Given the description of an element on the screen output the (x, y) to click on. 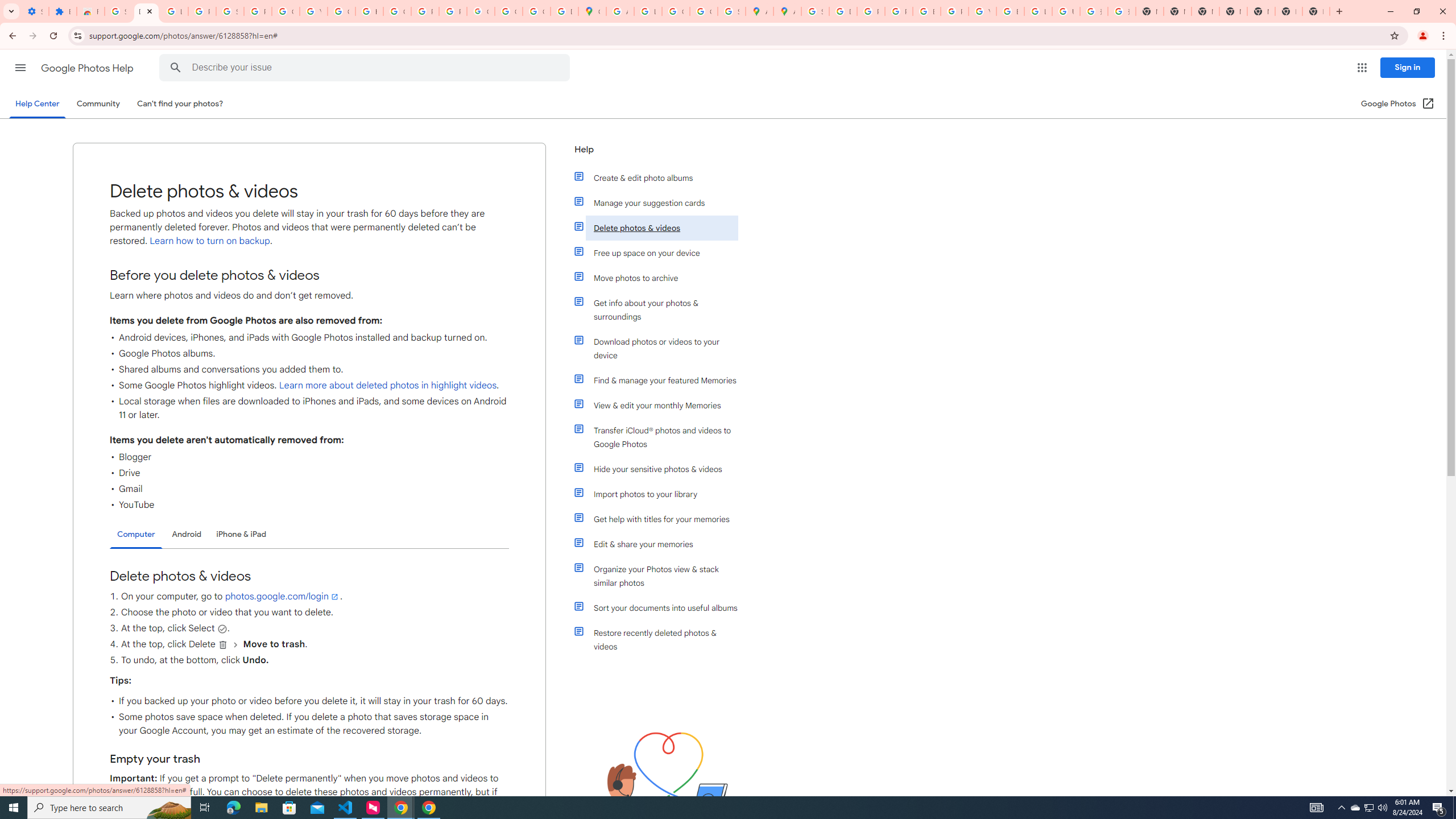
New Tab (1316, 11)
Computer (136, 534)
Can't find your photos? (180, 103)
New Tab (1233, 11)
Google Maps (592, 11)
Delete (223, 644)
Learn more about deleted photos in highlight videos (387, 385)
Find & manage your featured Memories (661, 380)
